Given the description of an element on the screen output the (x, y) to click on. 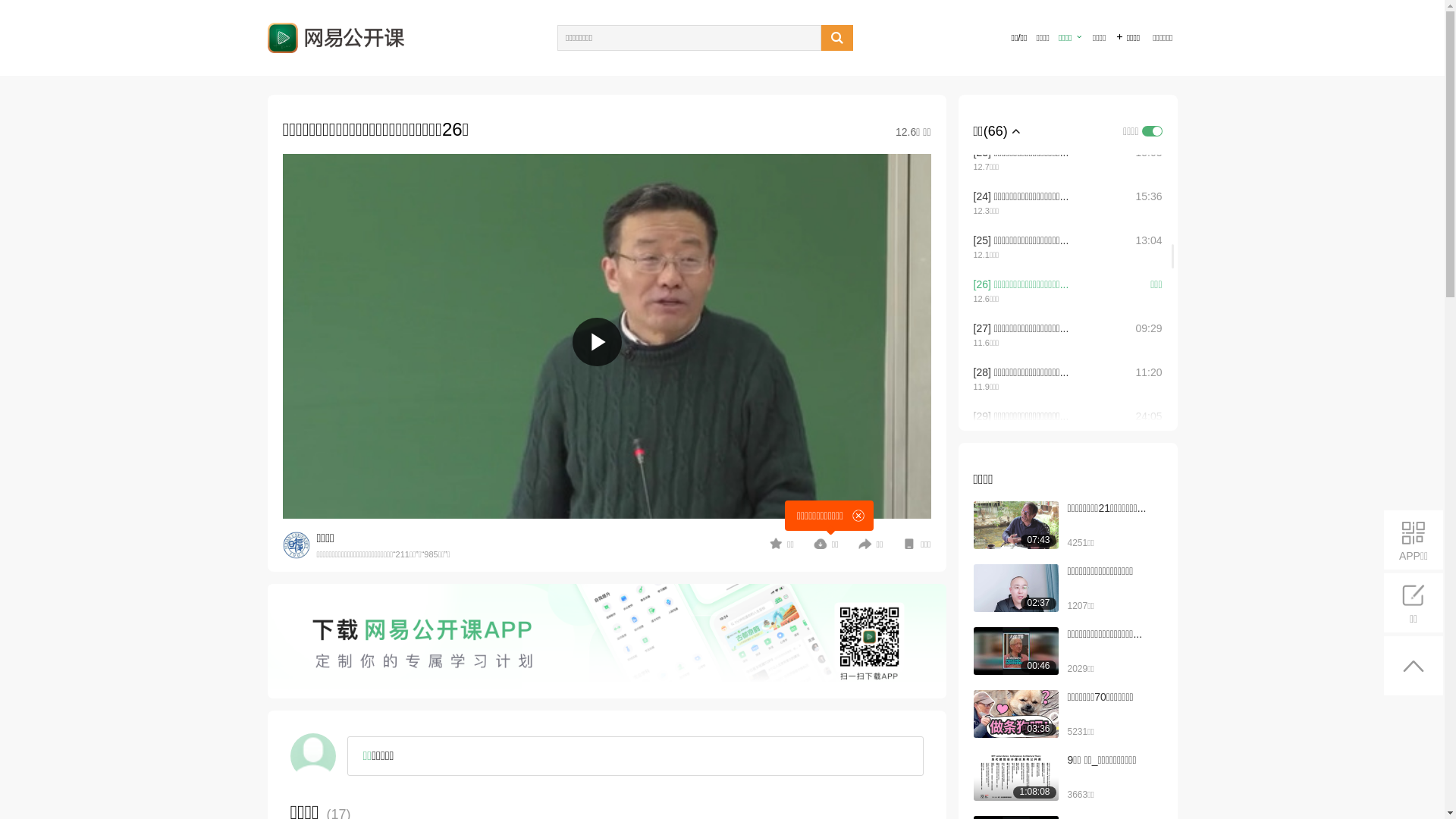
Play Video Element type: text (596, 342)
